Given the description of an element on the screen output the (x, y) to click on. 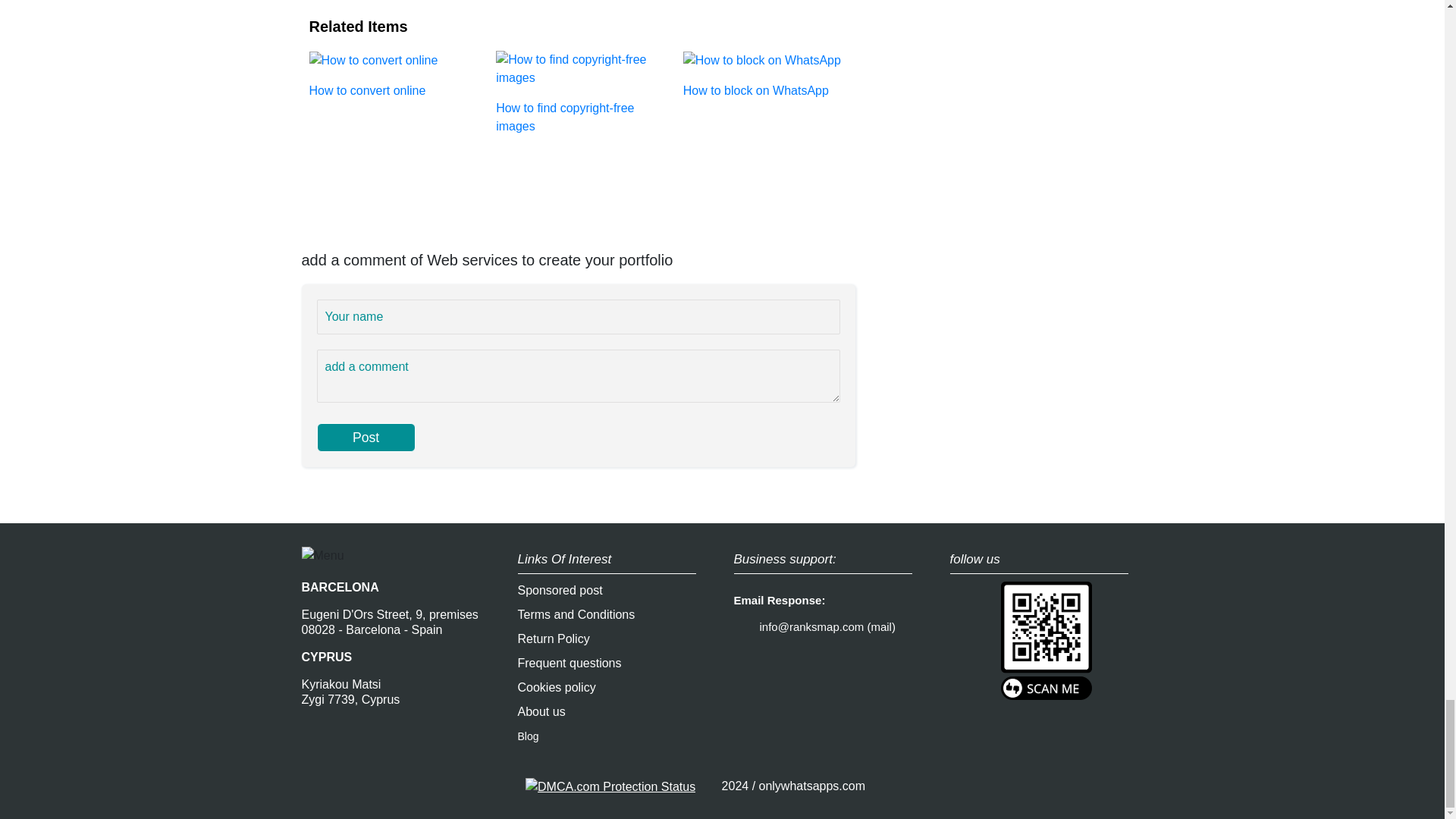
How to find copyright-free images (578, 91)
How to block on WhatsApp (764, 73)
Post (365, 437)
How to convert online (391, 73)
